Given the description of an element on the screen output the (x, y) to click on. 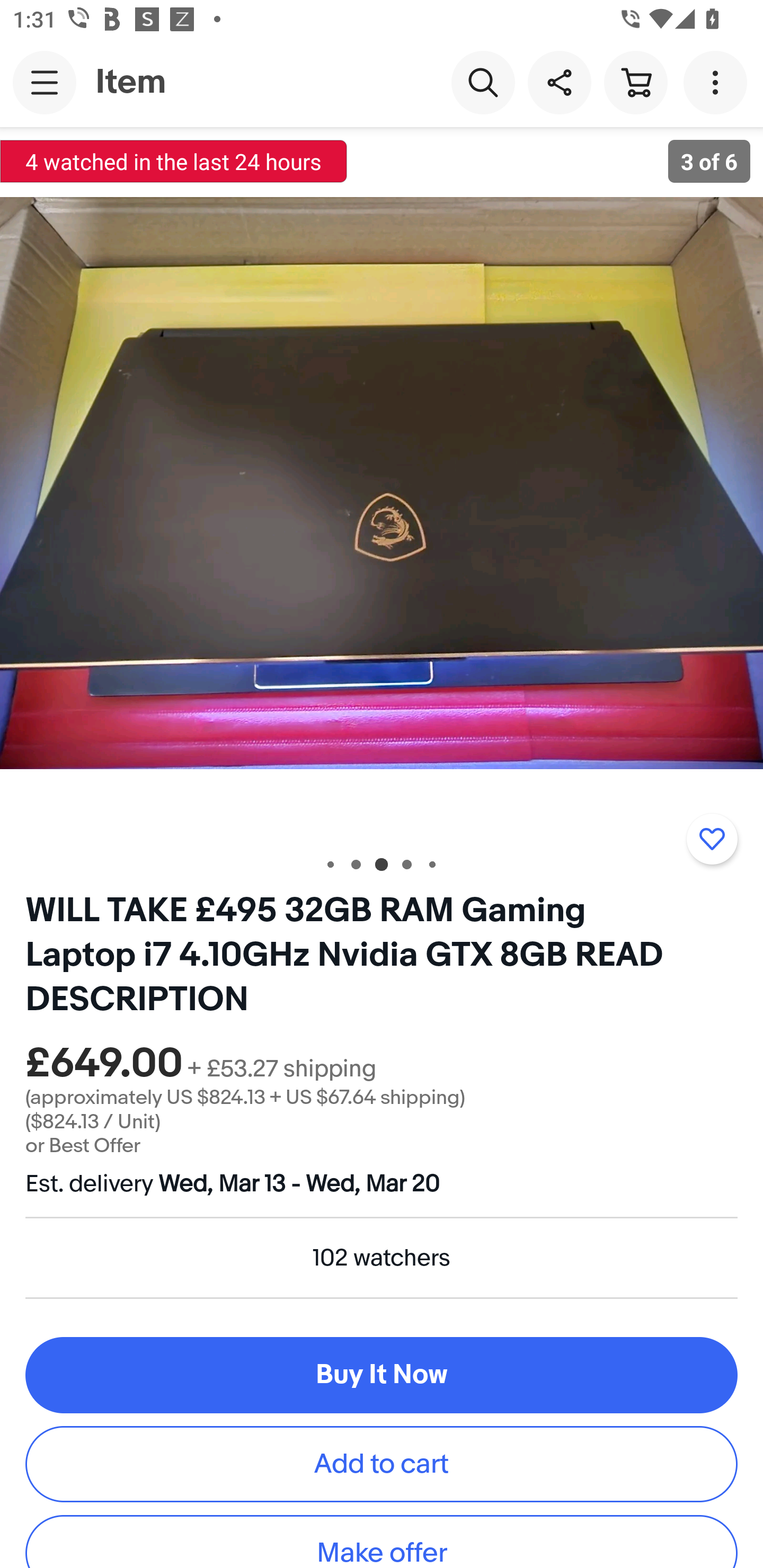
Main navigation, open (44, 82)
Search (482, 81)
Share this item (559, 81)
Cart button shopping cart (635, 81)
More options (718, 81)
Item image 3 of 6 (381, 482)
4 watched in the last 24 hours (173, 161)
Add to watchlist (711, 838)
Buy It Now (381, 1374)
Add to cart (381, 1463)
Make offer (381, 1541)
